Given the description of an element on the screen output the (x, y) to click on. 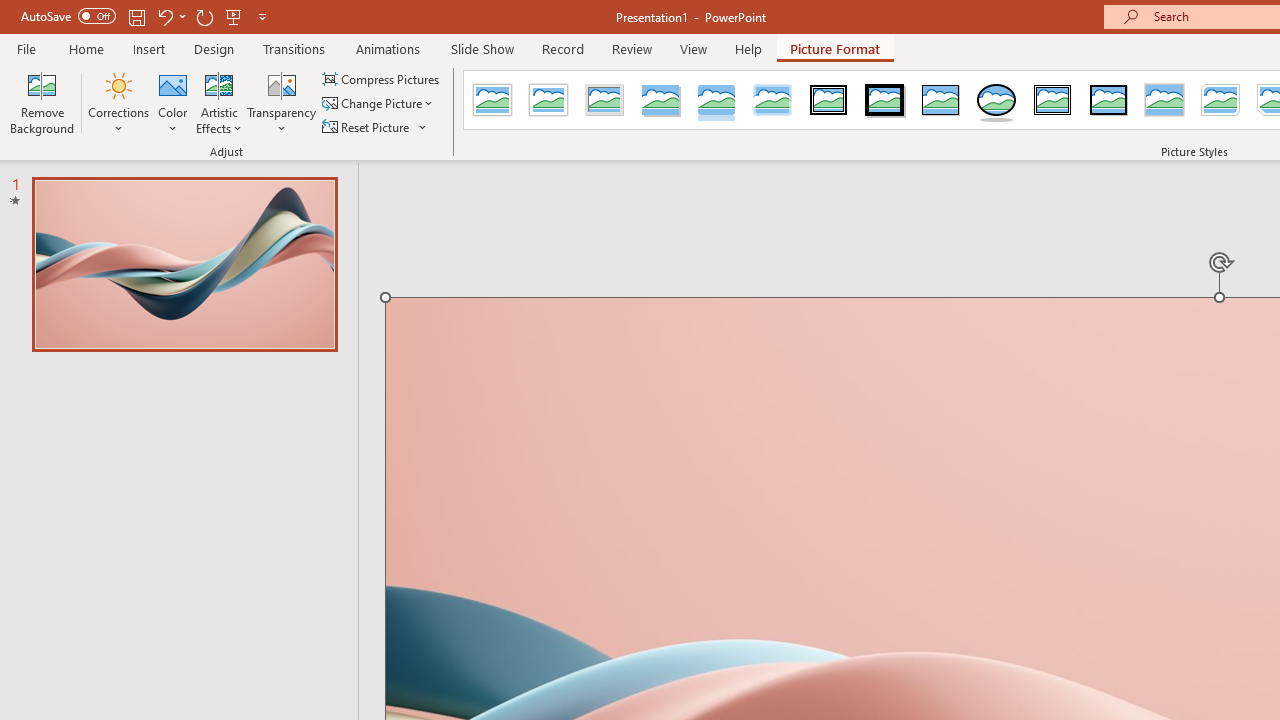
Design (214, 48)
Reset Picture (367, 126)
Undo (164, 15)
Rounded Diagonal Corner, White (1220, 100)
Slide (184, 263)
Review (631, 48)
Transparency (281, 102)
Color (173, 102)
Soft Edge Rectangle (772, 100)
View (693, 48)
Picture Format (834, 48)
Insert (149, 48)
Reset Picture (375, 126)
Simple Frame, White (492, 100)
Redo (204, 15)
